Given the description of an element on the screen output the (x, y) to click on. 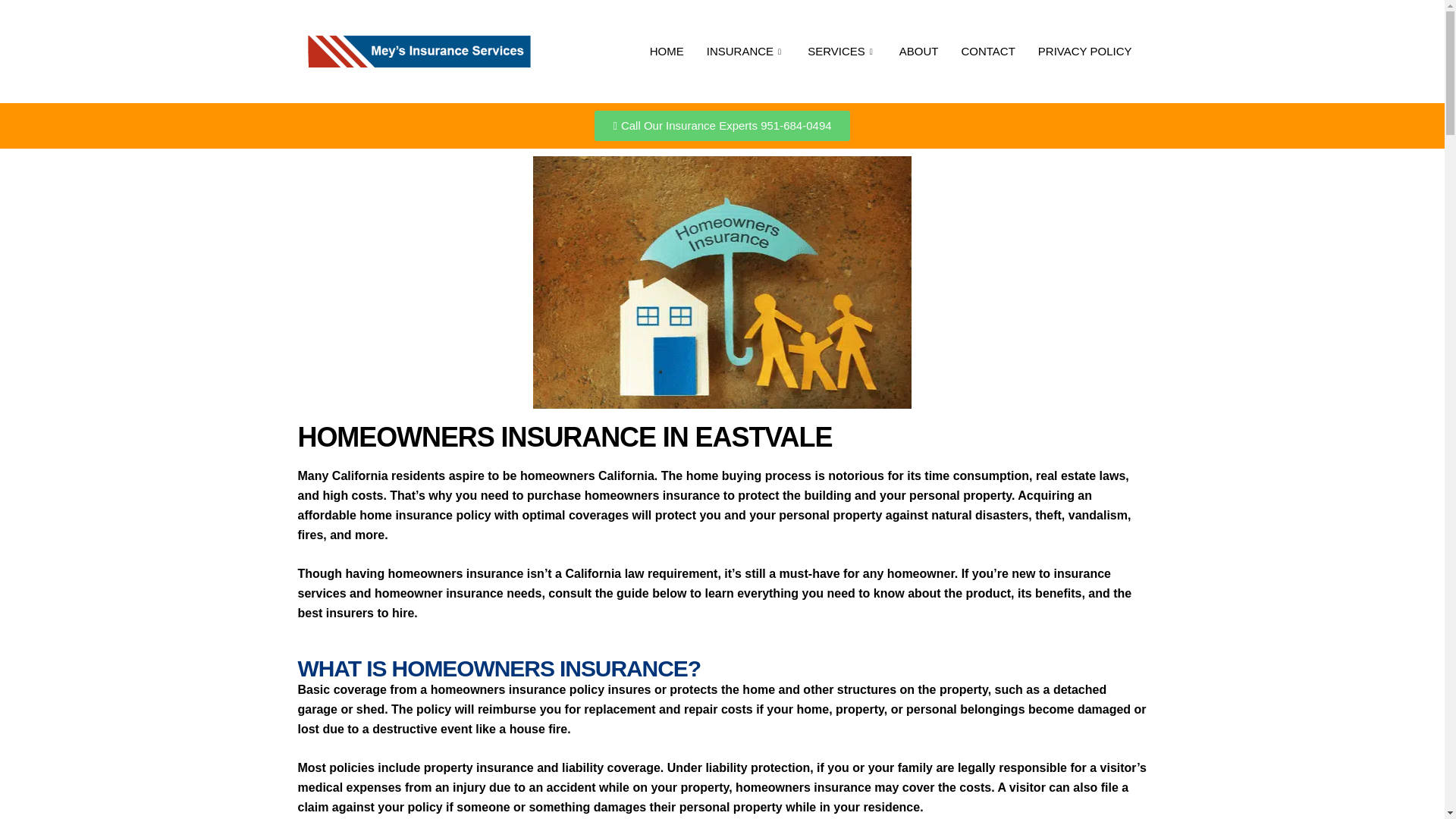
CONTACT (987, 51)
Call Our Insurance Experts 951-684-0494 (721, 125)
INSURANCE (745, 51)
PRIVACY POLICY (1084, 51)
HOME (667, 51)
ABOUT (919, 51)
SERVICES (842, 51)
